Given the description of an element on the screen output the (x, y) to click on. 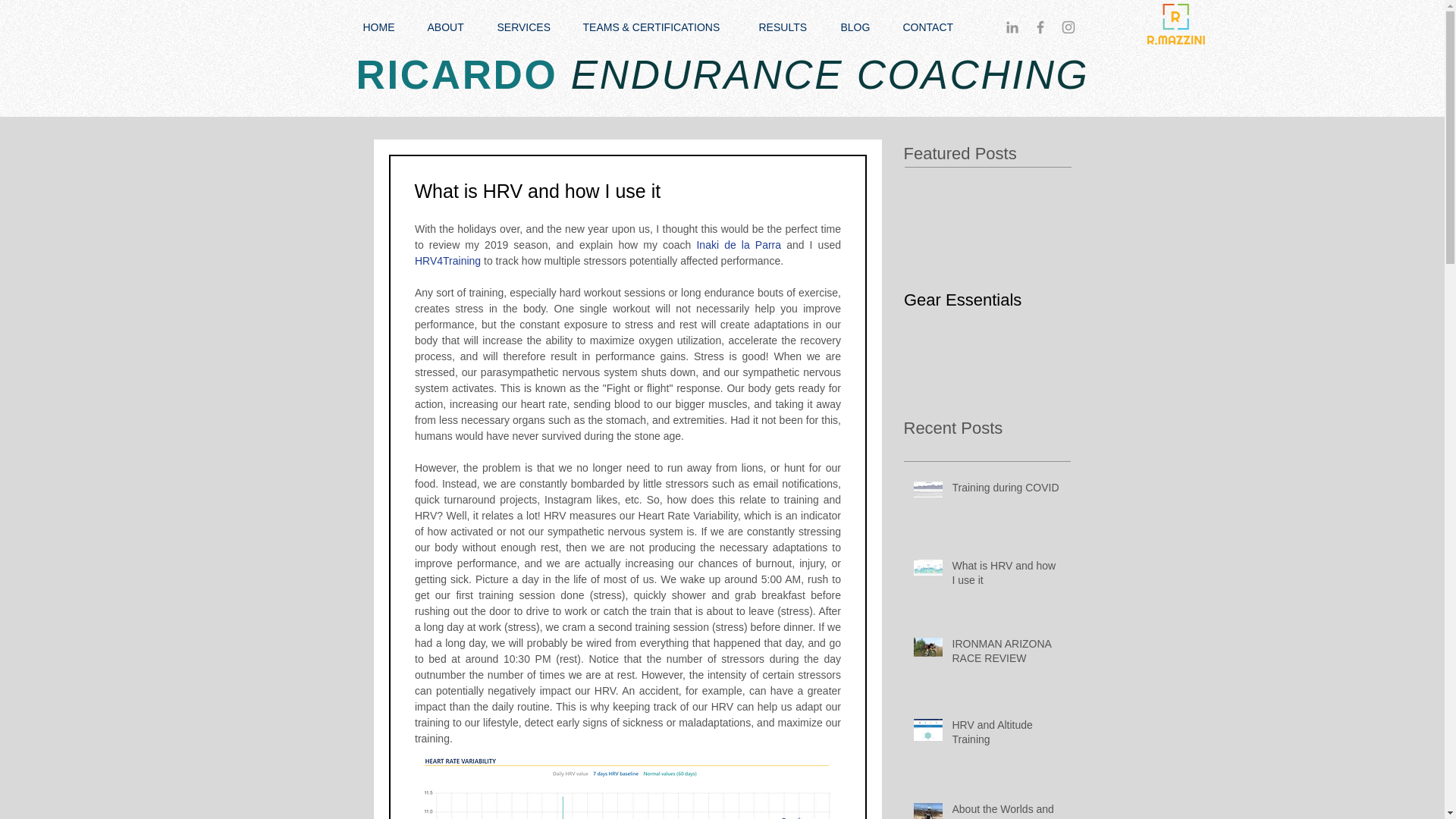
What is HRV and how I use it (1006, 576)
HRV4Training (446, 260)
Training during COVID (1006, 491)
Gear Essentials (987, 284)
HOME (384, 26)
Gear Essentials (987, 300)
ABOUT (449, 26)
 ENDURANCE COACHING (823, 74)
CONTACT (933, 26)
RESULTS (788, 26)
SERVICES (527, 26)
About the Worlds and Racing (1006, 810)
Gear Essentials (987, 284)
HRV and Altitude Training (1006, 735)
RICARDO (456, 74)
